Given the description of an element on the screen output the (x, y) to click on. 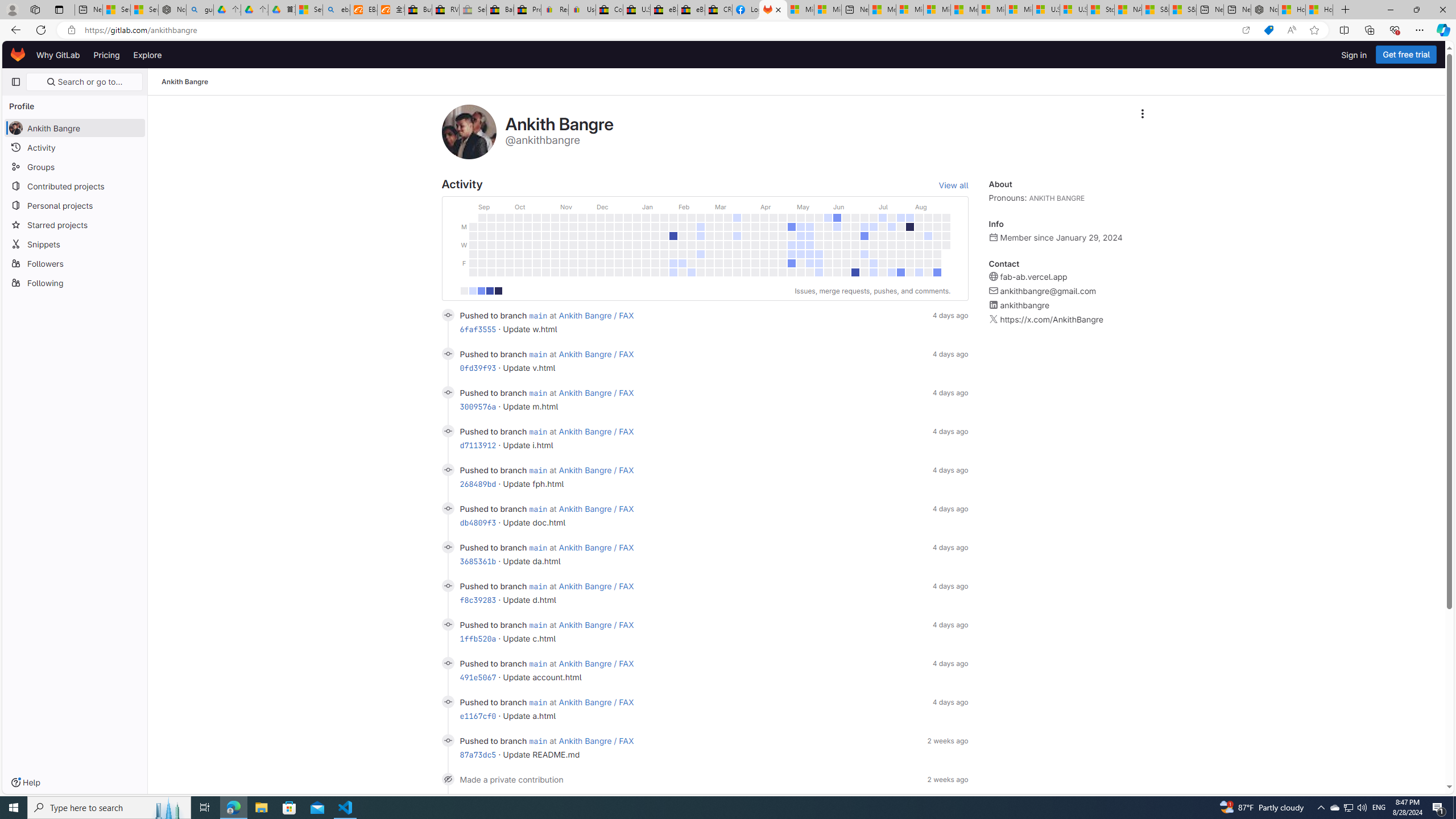
Press Room - eBay Inc. (527, 9)
